Given the description of an element on the screen output the (x, y) to click on. 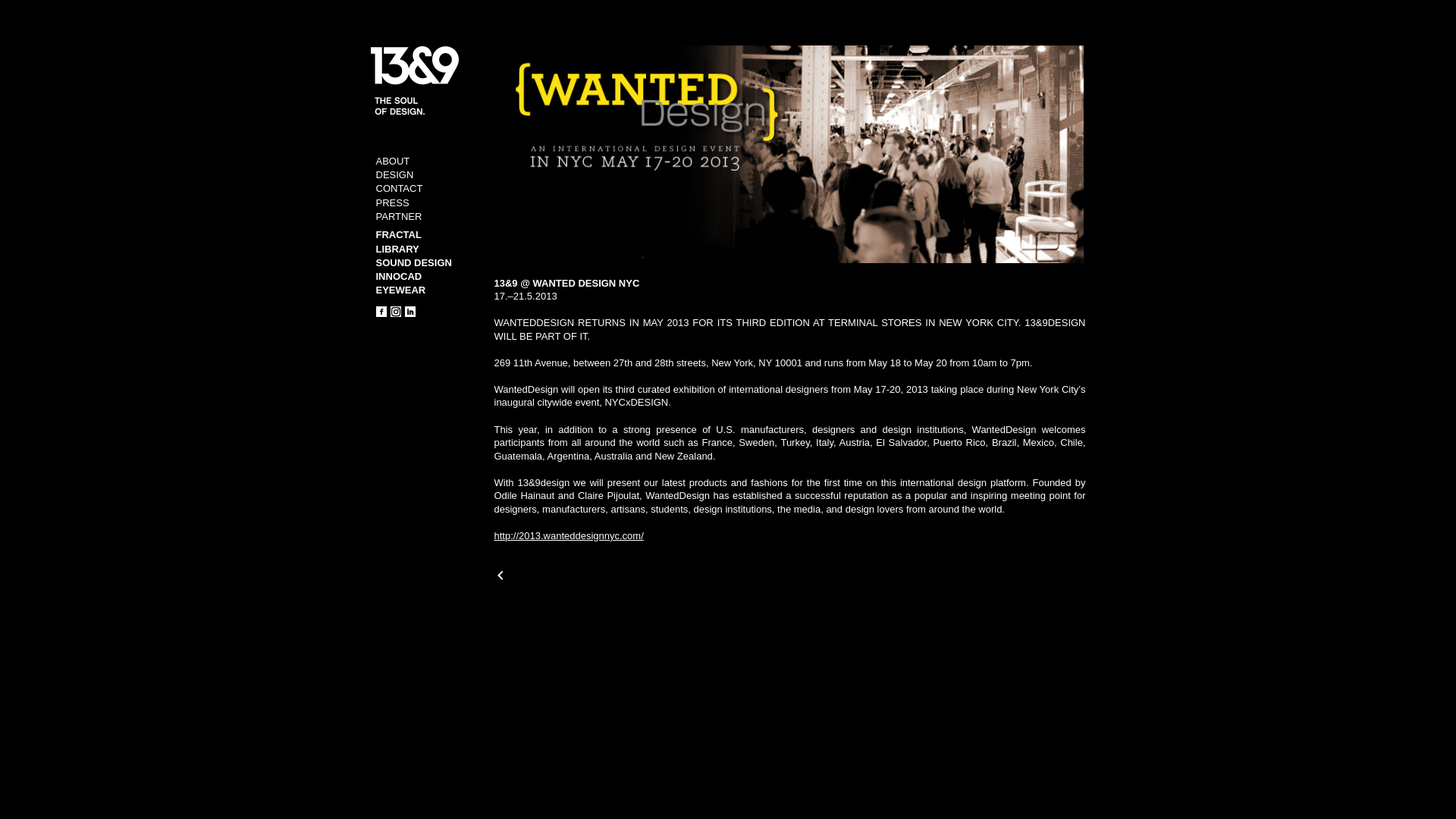
ABOUT Element type: text (393, 160)
PARTNER Element type: text (399, 216)
DESIGN Element type: text (395, 174)
INNOCAD Element type: text (399, 276)
http://2013.wanteddesignnyc.com/ Element type: text (568, 535)
PRESS Element type: text (392, 202)
CONTACT Element type: text (399, 188)
EYEWEAR Element type: text (401, 289)
FRACTAL LIBRARY Element type: text (398, 241)
< Element type: text (500, 575)
SOUND DESIGN Element type: text (413, 262)
